Given the description of an element on the screen output the (x, y) to click on. 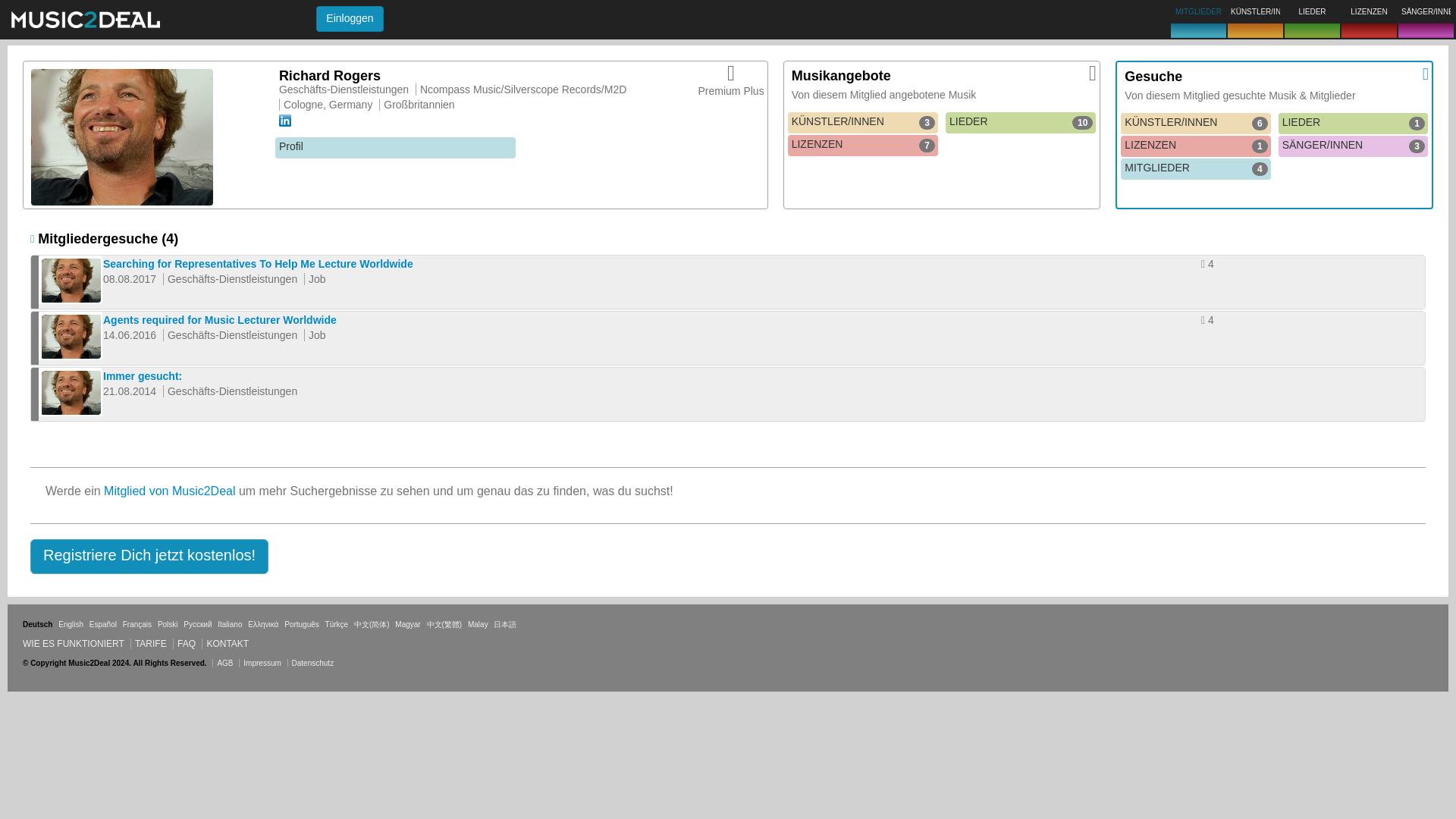
Registriere Dich jetzt kostenlos! (148, 556)
English (1353, 123)
Turkish (70, 623)
Mitglied von Music2Deal (336, 623)
Einloggen (168, 490)
Profil (348, 18)
Italiano (395, 147)
Polish (228, 623)
Italian (167, 623)
Polski (228, 623)
Hungarian (167, 623)
Agents required for Music Lecturer Worldwide (407, 623)
